Given the description of an element on the screen output the (x, y) to click on. 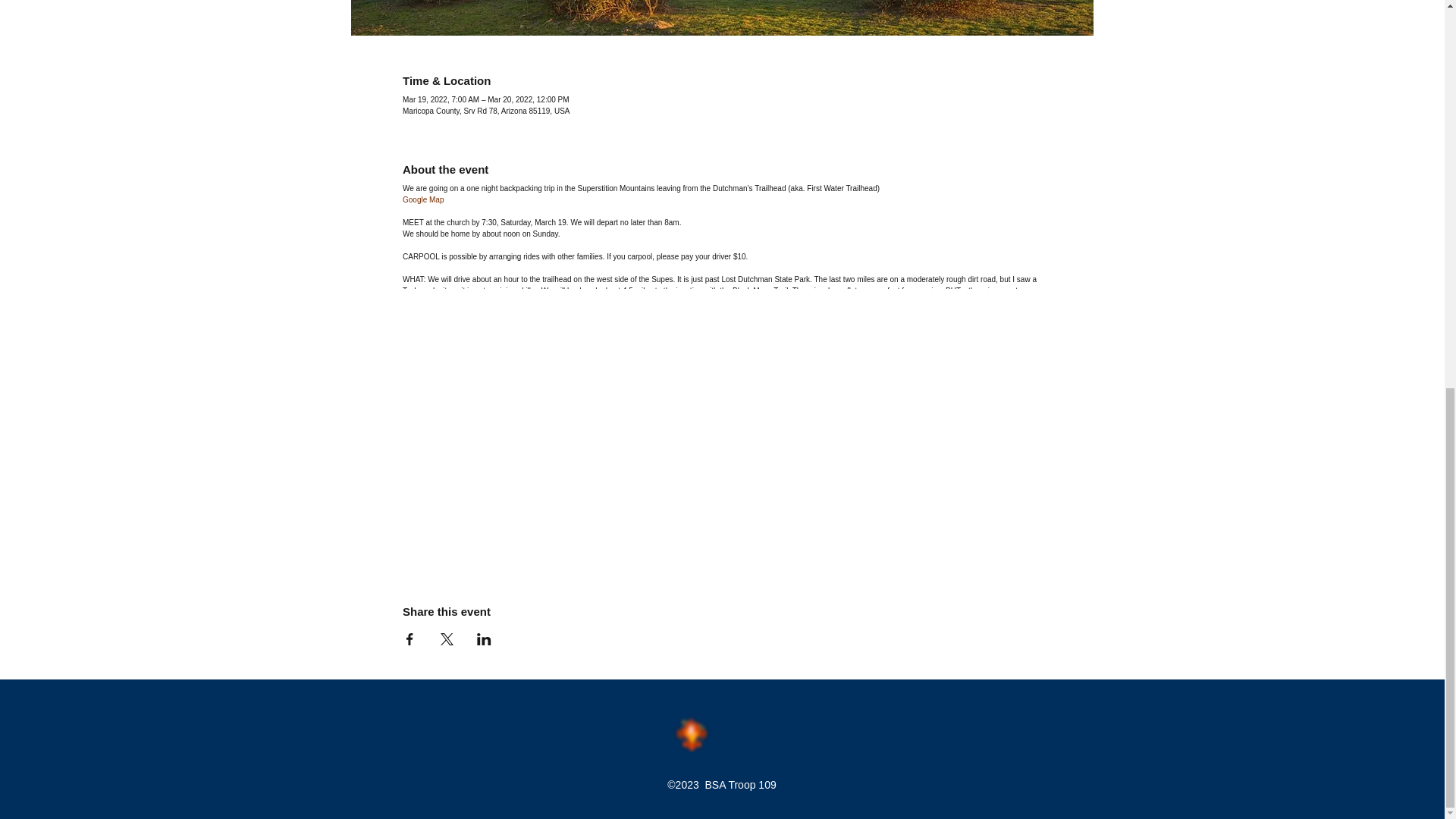
Google Map (423, 199)
